Given the description of an element on the screen output the (x, y) to click on. 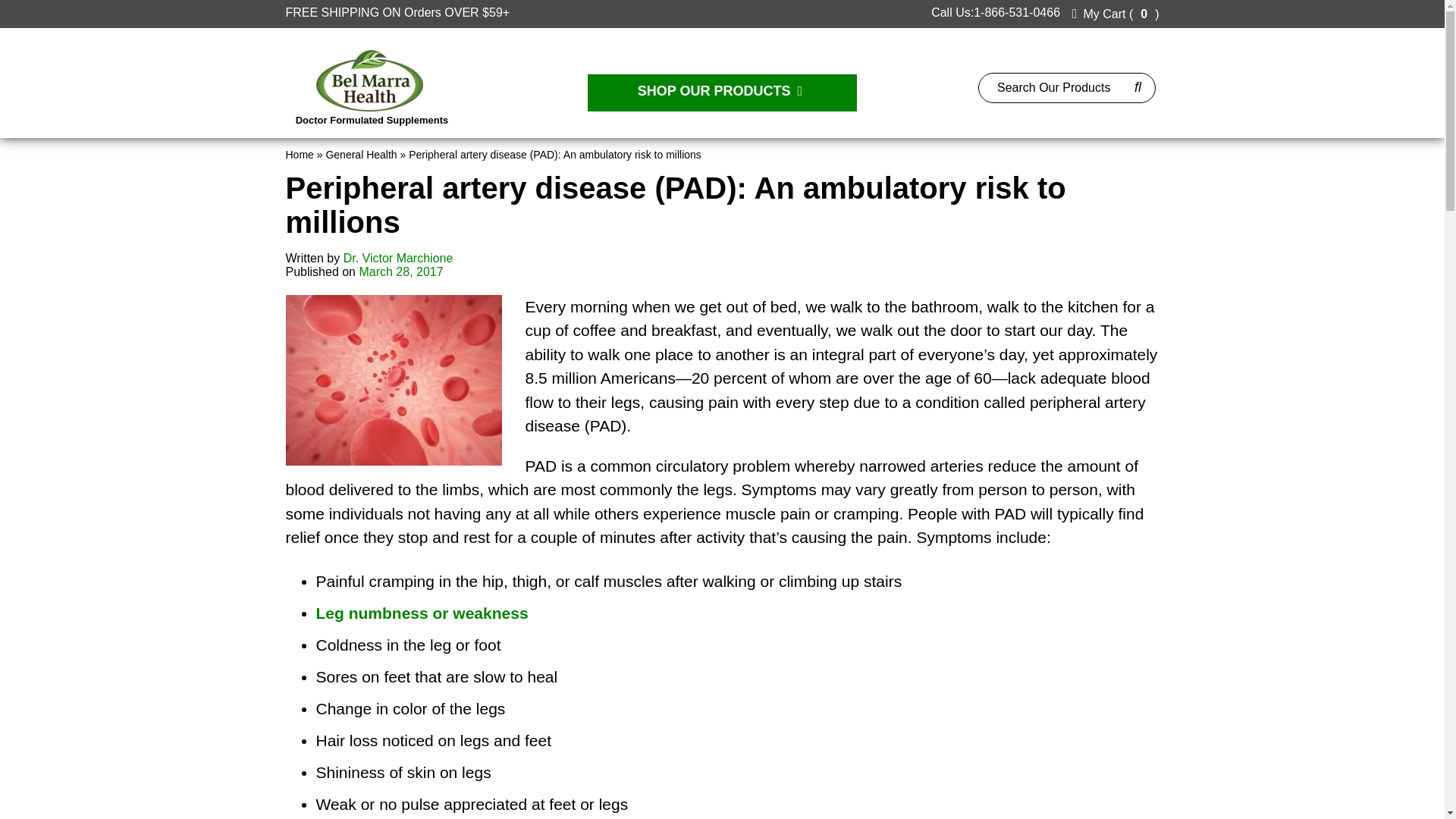
SHOP OUR PRODUCTS (721, 92)
Skip to the content (50, 6)
Call Us:1-866-531-0466 (991, 11)
Posts by Dr. Victor Marchione (397, 257)
